Given the description of an element on the screen output the (x, y) to click on. 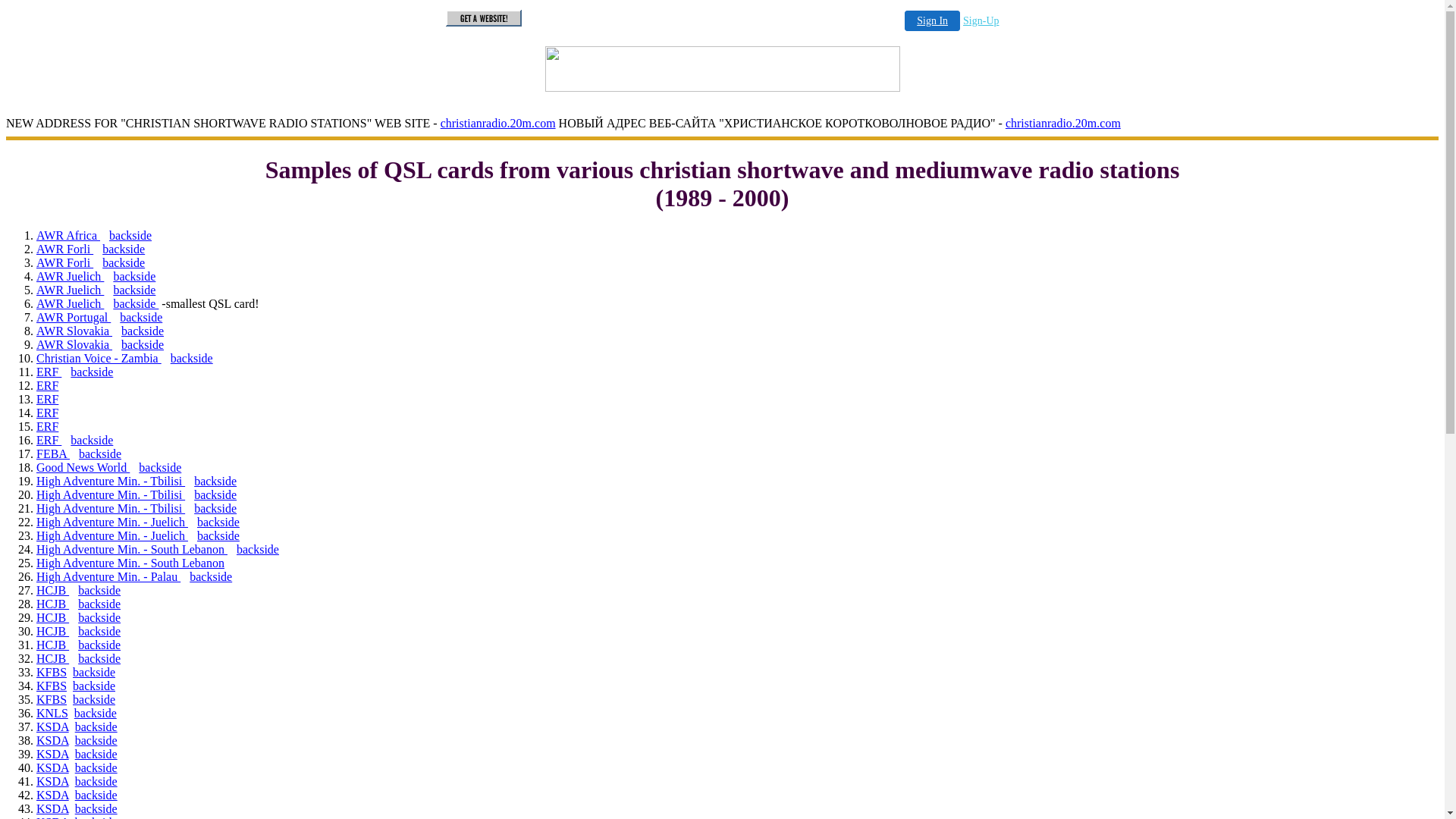
ERF Element type: text (47, 385)
HCJB Element type: text (52, 644)
AWR Juelich Element type: text (69, 289)
backside Element type: text (95, 712)
Good News World Element type: text (82, 467)
backside Element type: text (99, 589)
backside Element type: text (140, 316)
backside Element type: text (96, 753)
KNLS Element type: text (52, 712)
christianradio.20m.com Element type: text (1062, 122)
backside Element type: text (123, 262)
backside Element type: text (93, 685)
AWR Slovakia Element type: text (74, 330)
Sign In Element type: text (932, 20)
backside Element type: text (91, 439)
ERF Element type: text (48, 439)
High Adventure Min. - South Lebanon Element type: text (131, 548)
KFBS Element type: text (51, 699)
High Adventure Min. - Tbilisi Element type: text (110, 494)
HCJB Element type: text (52, 658)
AWR Forli Element type: text (64, 262)
backside Element type: text (91, 371)
HCJB Element type: text (52, 617)
backside Element type: text (133, 289)
backside Element type: text (96, 767)
backside Element type: text (99, 453)
backside Element type: text (142, 330)
ERF Element type: text (47, 426)
backside Element type: text (191, 357)
backside Element type: text (123, 248)
KSDA Element type: text (52, 767)
KFBS Element type: text (51, 685)
backside Element type: text (215, 480)
AWR Juelich Element type: text (69, 275)
High Adventure Min. - South Lebanon Element type: text (130, 562)
AWR Forli Element type: text (64, 248)
High Adventure Min. - Juelich Element type: text (112, 535)
backside Element type: text (93, 671)
KSDA Element type: text (52, 753)
High Adventure Min. - Juelich Element type: text (112, 521)
backside Element type: text (99, 603)
backside Element type: text (218, 521)
High Adventure Min. - Tbilisi Element type: text (110, 508)
backside Element type: text (99, 658)
AWR Africa Element type: text (68, 235)
backside Element type: text (159, 467)
High Adventure Min. - Tbilisi Element type: text (110, 480)
Christian Voice - Zambia Element type: text (98, 357)
KFBS Element type: text (51, 671)
KSDA Element type: text (52, 794)
backside Element type: text (218, 535)
backside Element type: text (96, 808)
backside Element type: text (99, 630)
Sign-Up Element type: text (980, 20)
backside Element type: text (142, 344)
HCJB Element type: text (52, 630)
backside Element type: text (133, 275)
High Adventure Min. - Palau Element type: text (108, 576)
FEBA Element type: text (52, 453)
backside Element type: text (135, 303)
HCJB Element type: text (52, 589)
HCJB Element type: text (52, 603)
AWR Slovakia Element type: text (74, 344)
backside Element type: text (257, 548)
backside Element type: text (215, 508)
KSDA Element type: text (52, 808)
backside Element type: text (210, 576)
ERF Element type: text (47, 398)
AWR Juelich Element type: text (69, 303)
backside Element type: text (96, 740)
christianradio.20m.com Element type: text (497, 122)
backside Element type: text (130, 235)
backside Element type: text (96, 726)
KSDA Element type: text (52, 781)
KSDA Element type: text (52, 740)
backside Element type: text (215, 494)
AWR Portugal Element type: text (73, 316)
backside Element type: text (99, 617)
backside Element type: text (96, 794)
backside Element type: text (93, 699)
ERF Element type: text (47, 412)
ERF Element type: text (48, 371)
backside Element type: text (99, 644)
backside Element type: text (96, 781)
KSDA Element type: text (52, 726)
